Given the description of an element on the screen output the (x, y) to click on. 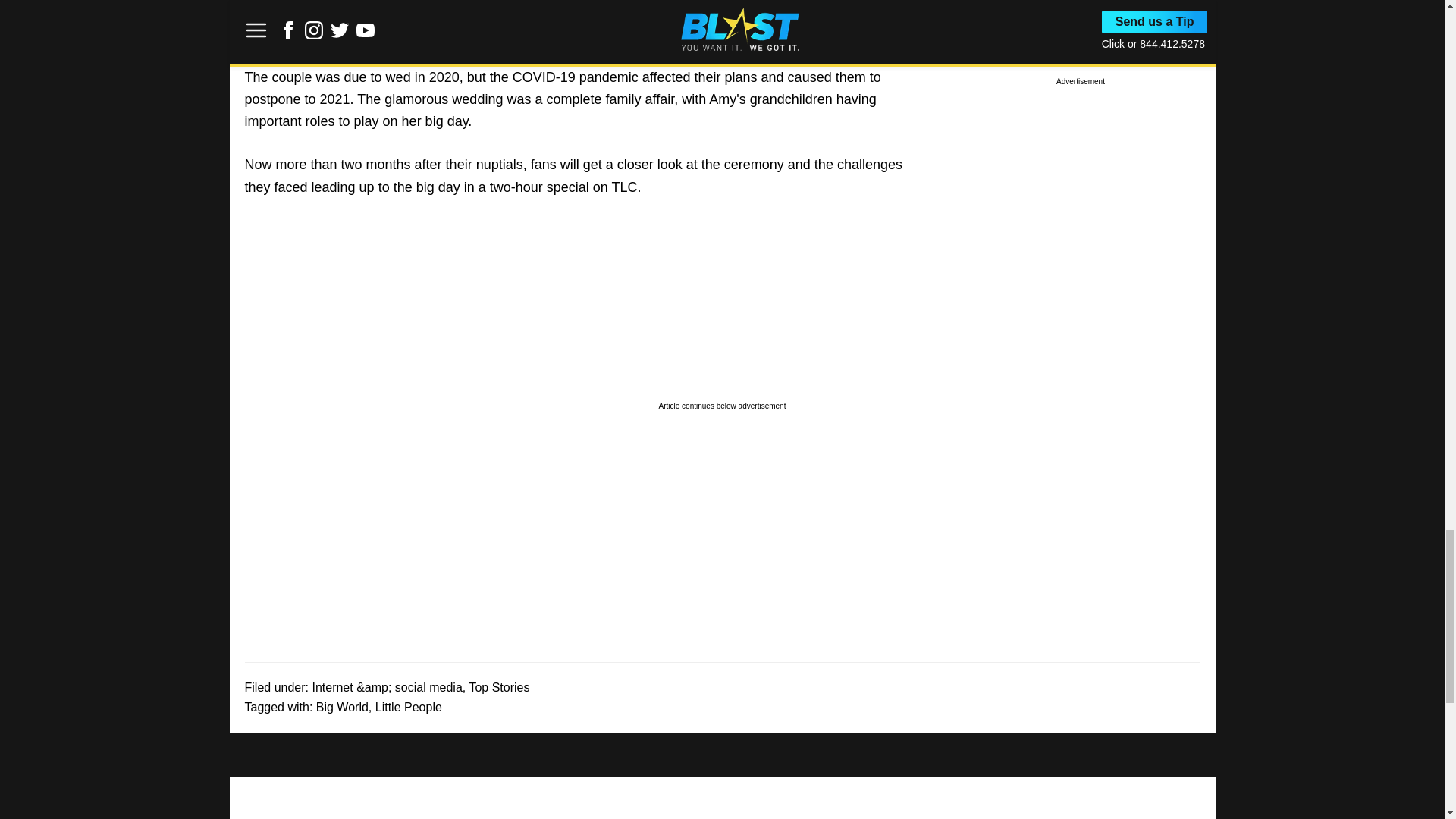
Top Stories (498, 686)
Little People (408, 707)
Big World (341, 707)
